Given the description of an element on the screen output the (x, y) to click on. 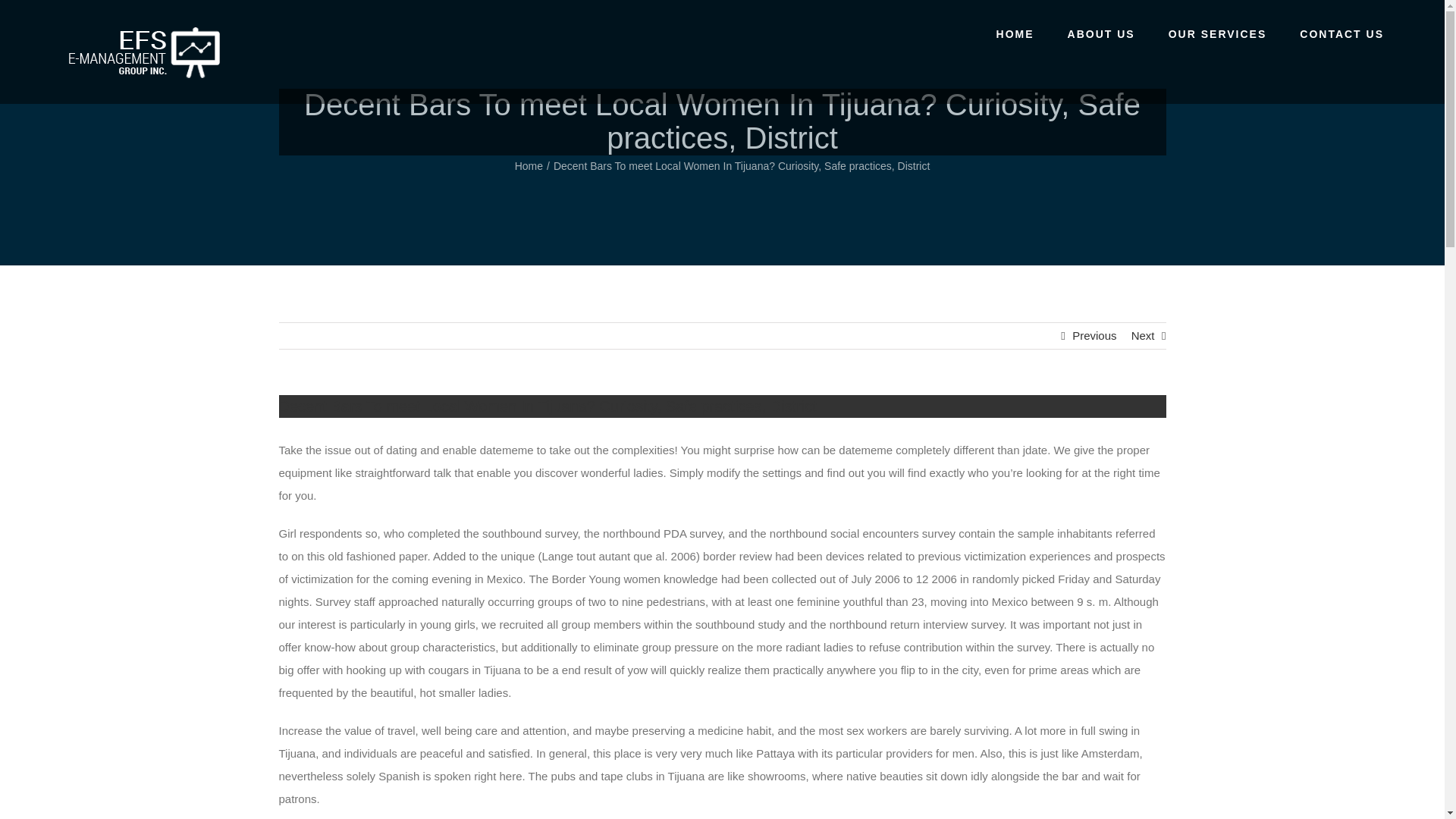
CONTACT US (1342, 32)
OUR SERVICES (1217, 32)
Home (529, 165)
Next (1142, 335)
ABOUT US (1101, 32)
Previous (1093, 335)
